Given the description of an element on the screen output the (x, y) to click on. 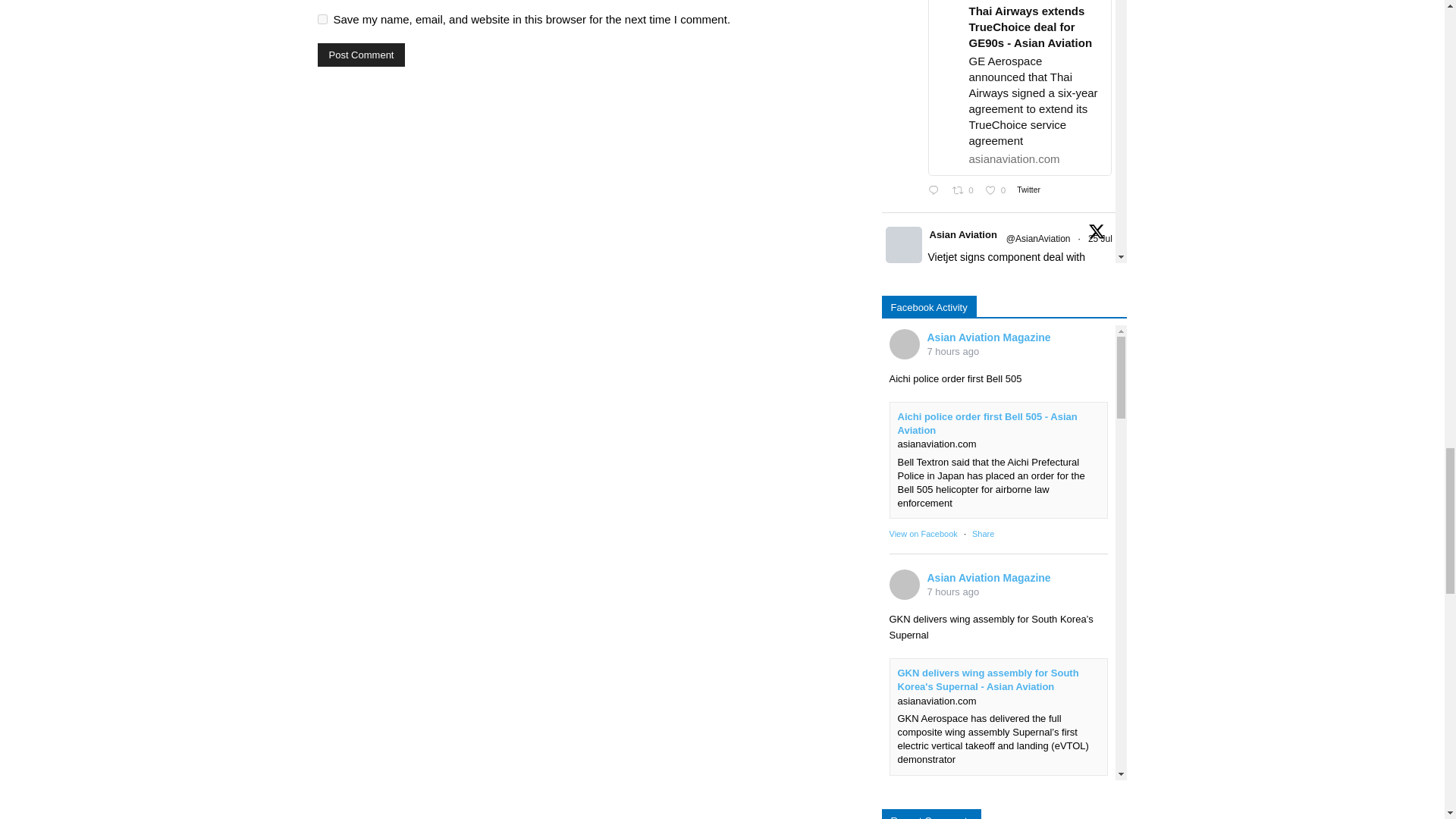
yes (321, 19)
Post Comment (360, 54)
